Given the description of an element on the screen output the (x, y) to click on. 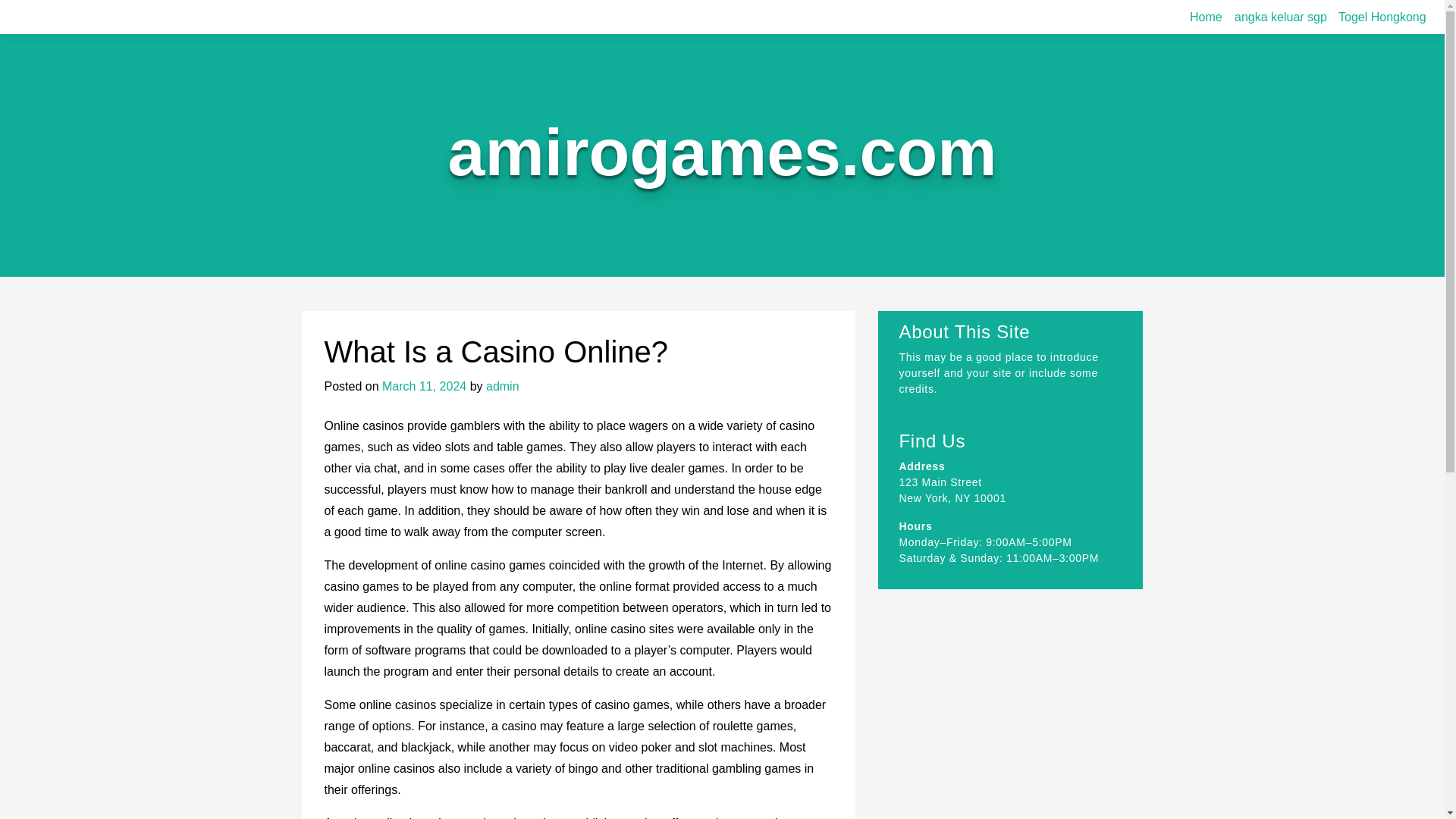
Togel Hongkong (1382, 16)
angka keluar sgp (1280, 16)
Togel Hongkong (1382, 16)
Home (1205, 16)
Home (1205, 16)
March 11, 2024 (423, 386)
admin (502, 386)
angka keluar sgp (1280, 16)
